Given the description of an element on the screen output the (x, y) to click on. 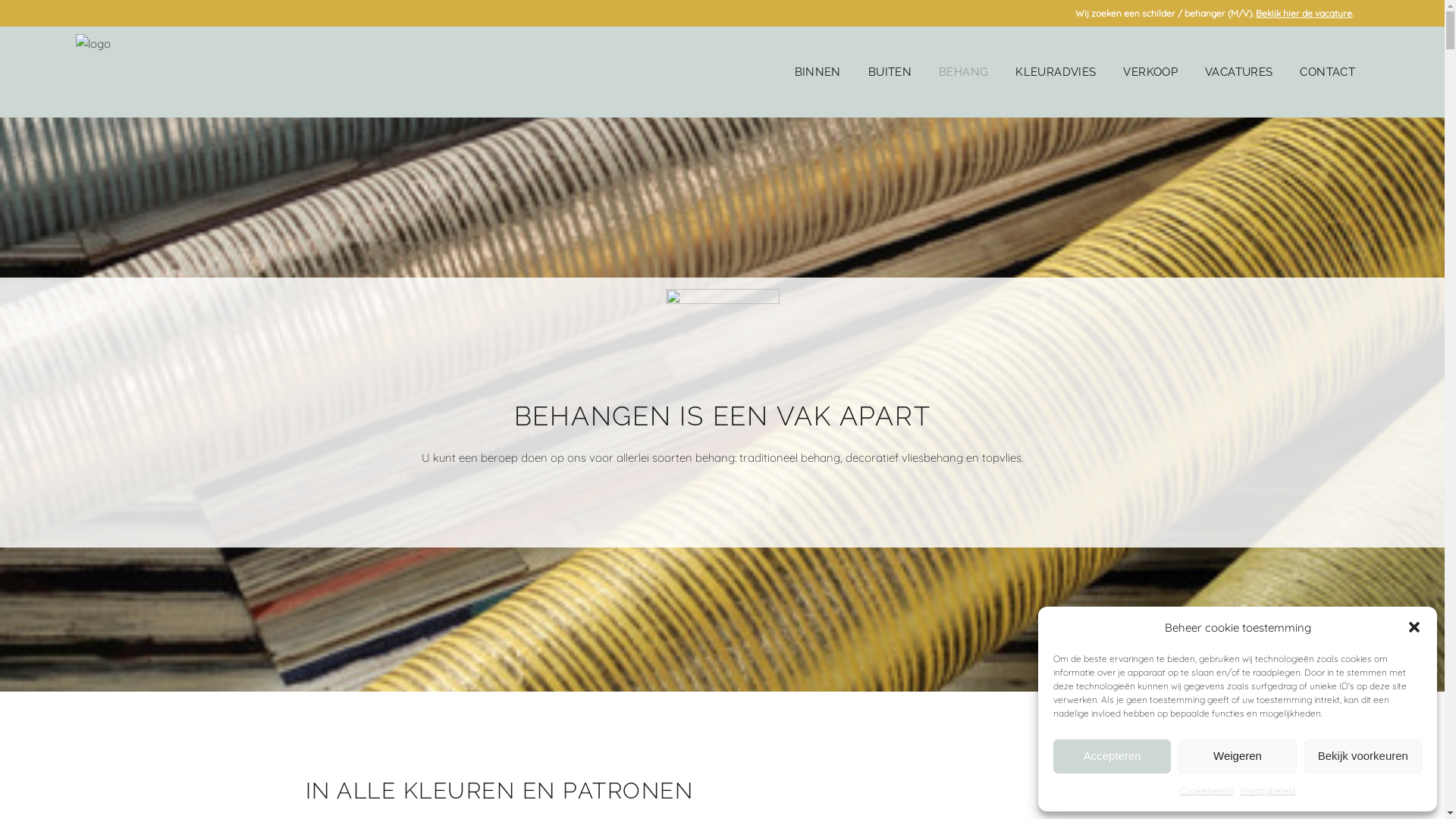
KLEURADVIES Element type: text (1055, 71)
Bekijk voorkeuren Element type: text (1362, 756)
Privacybeleid Element type: text (1267, 790)
VERKOOP Element type: text (1150, 71)
BEHANG Element type: text (963, 71)
Accepteren Element type: text (1111, 756)
Cookiebeleid Element type: text (1206, 790)
CONTACT Element type: text (1327, 71)
BINNEN Element type: text (817, 71)
Weigeren Element type: text (1236, 756)
VACATURES Element type: text (1238, 71)
BUITEN Element type: text (889, 71)
Bekijk hier de vacature Element type: text (1303, 12)
